Given the description of an element on the screen output the (x, y) to click on. 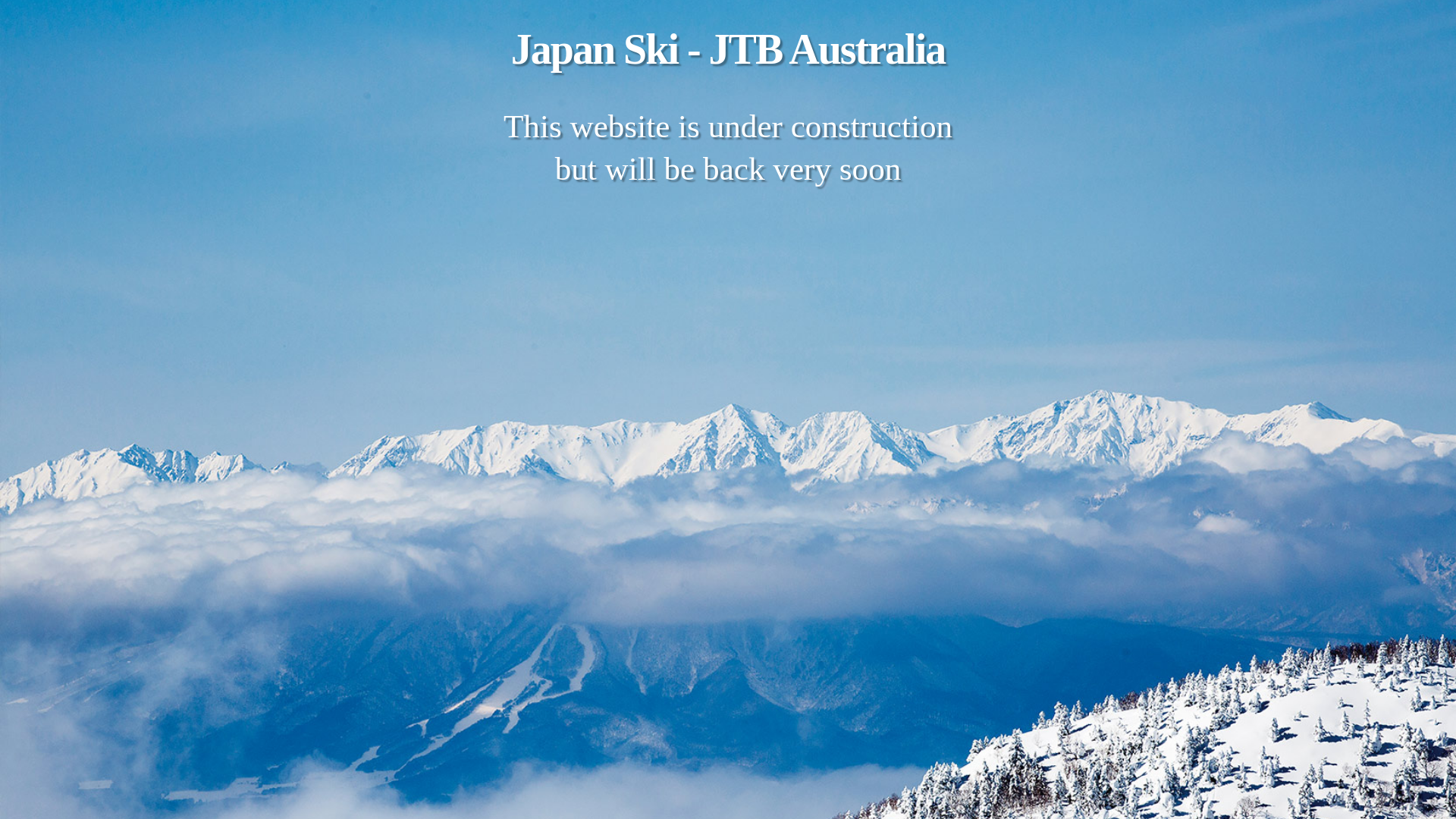
Send Element type: text (764, 221)
